Given the description of an element on the screen output the (x, y) to click on. 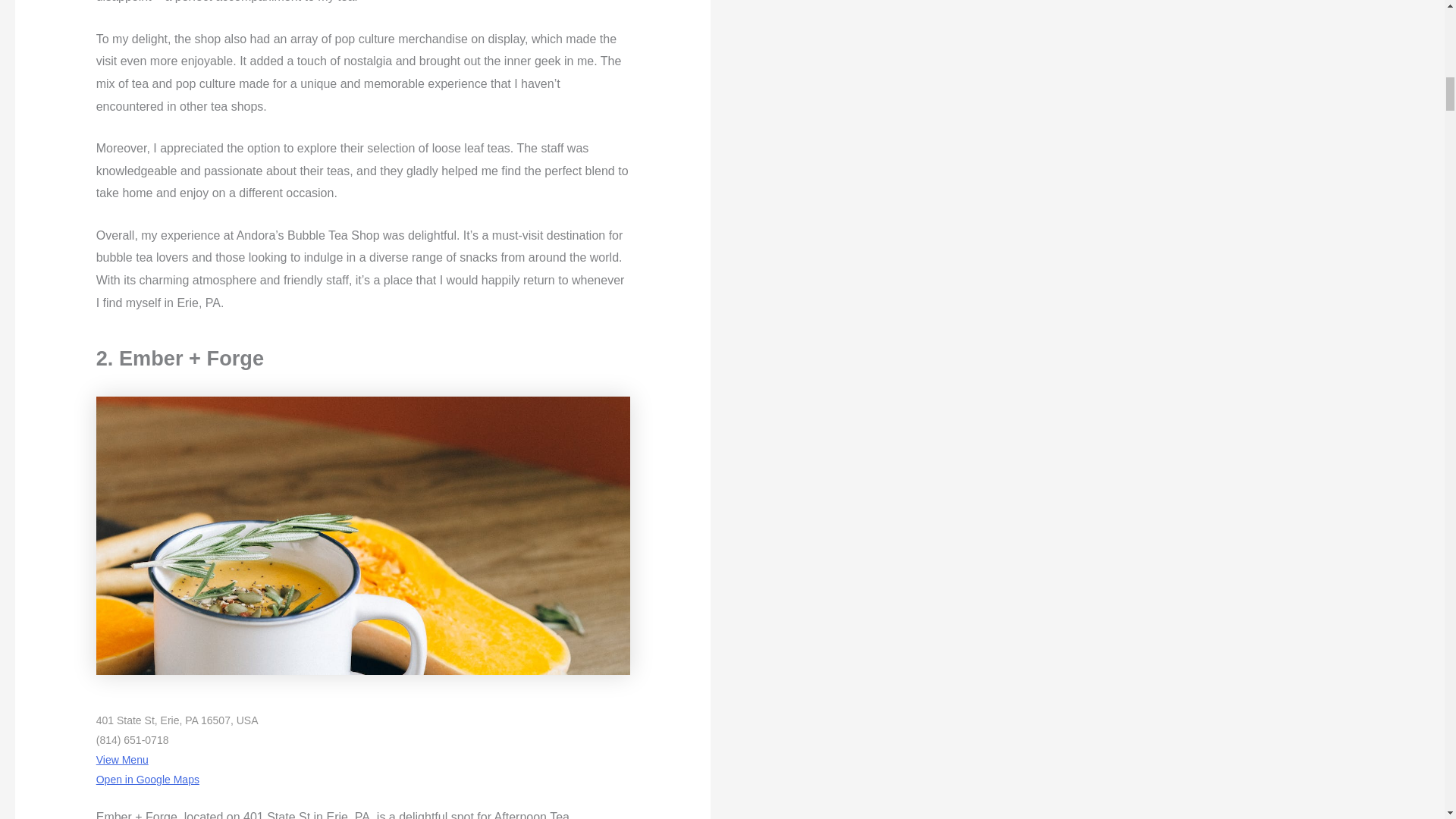
Open in Google Maps (147, 779)
View Menu (122, 759)
